Given the description of an element on the screen output the (x, y) to click on. 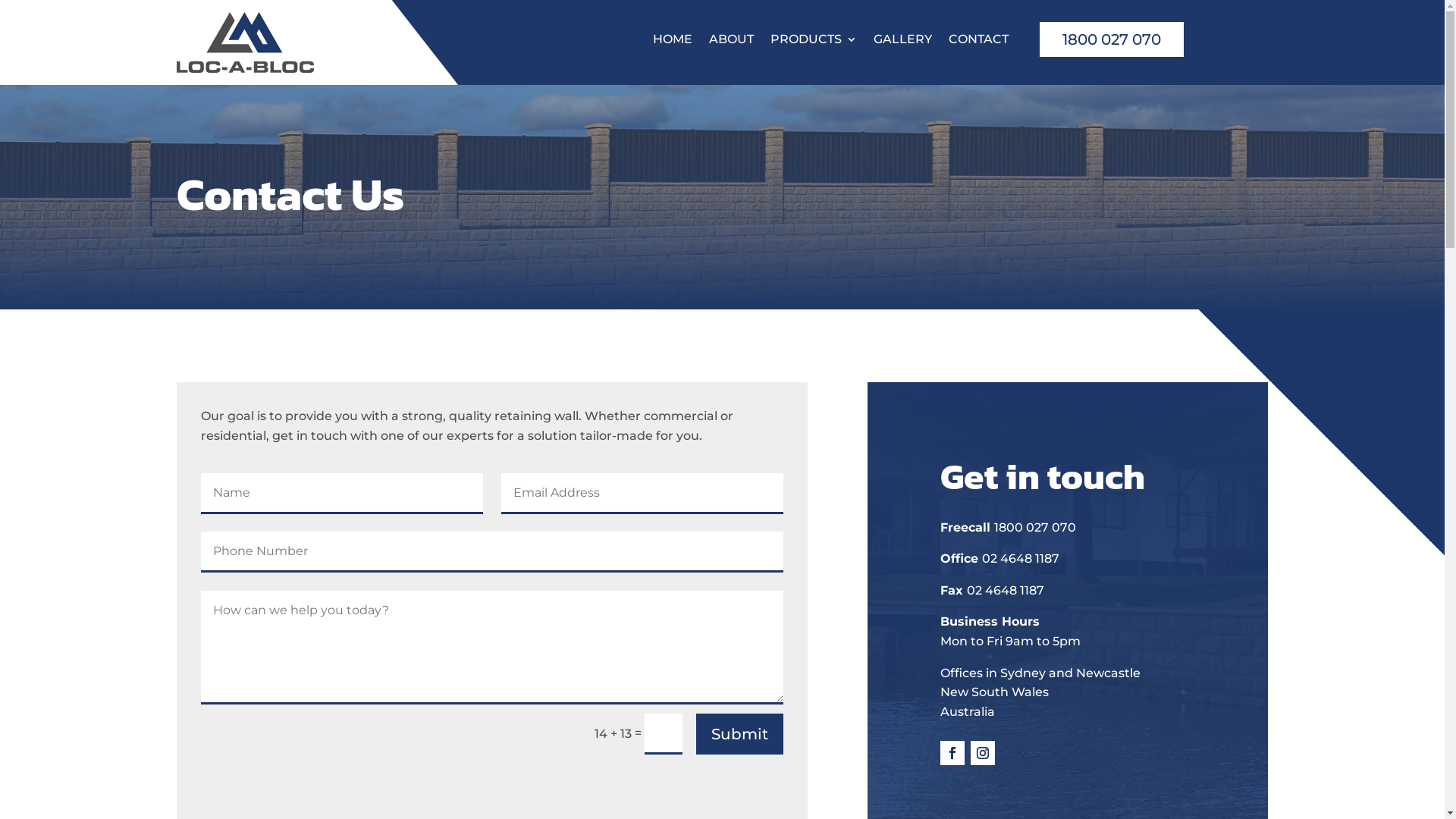
02 4648 1187 Element type: text (1020, 558)
Submit Element type: text (739, 733)
HOME Element type: text (672, 45)
ABOUT Element type: text (731, 45)
Follow on Instagram Element type: hover (982, 752)
PRODUCTS Element type: text (813, 45)
Follow on Facebook Element type: hover (952, 752)
1800 027 070 Element type: text (1111, 42)
GALLERY Element type: text (902, 45)
LAB Full Logo Element type: hover (244, 42)
1800 027 070 Element type: text (1035, 527)
CONTACT Element type: text (978, 45)
